Given the description of an element on the screen output the (x, y) to click on. 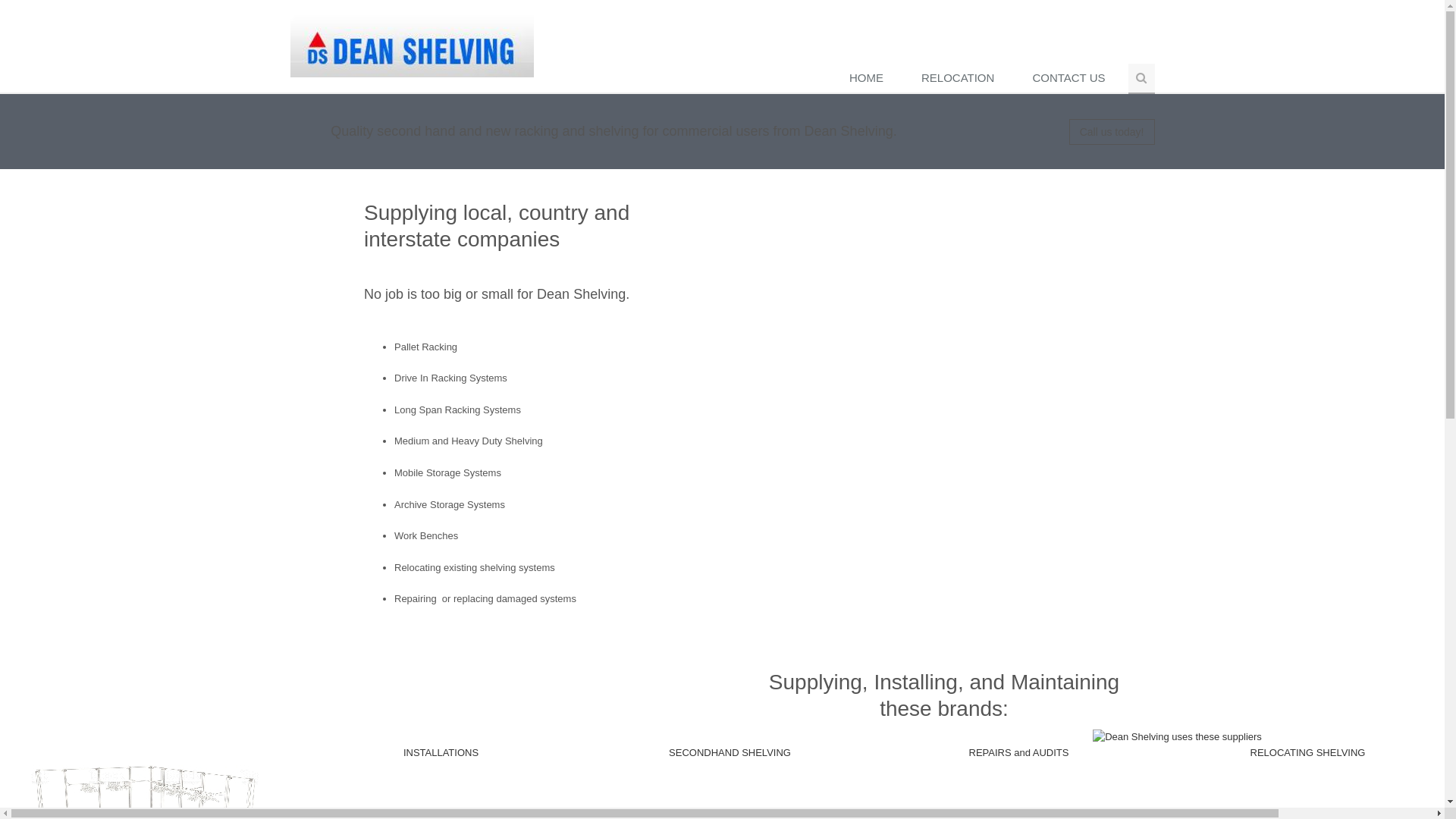
RELOCATION Element type: text (961, 78)
Call us today! Element type: text (1111, 131)
HOME Element type: text (870, 78)
CONTACT US Element type: text (1071, 78)
Dean Shelving uses these suppliers Element type: hover (1176, 737)
